Given the description of an element on the screen output the (x, y) to click on. 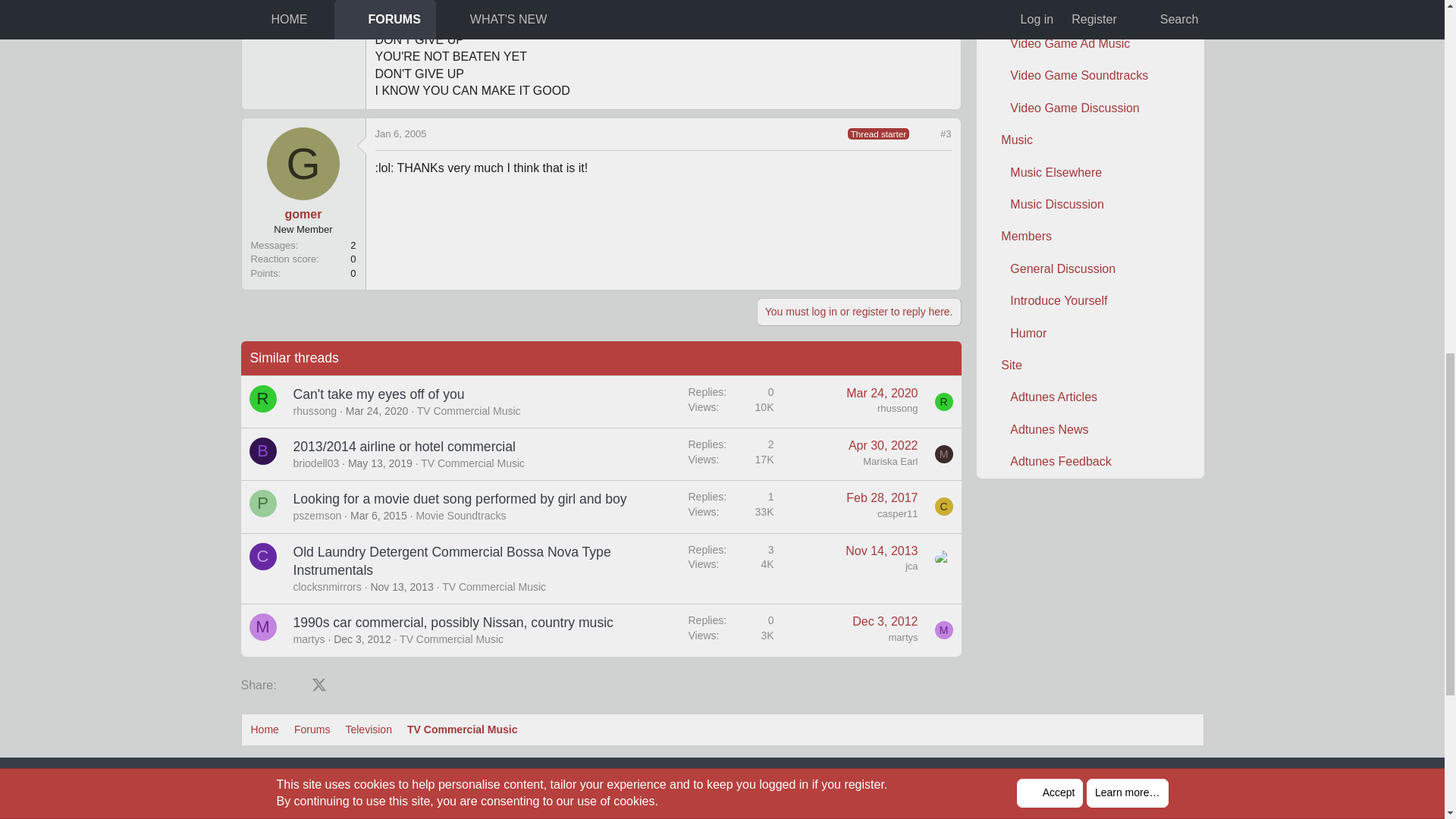
Feb 28, 2017 at 1:46 PM (881, 497)
First message reaction score: 0 (730, 454)
Mar 6, 2015 at 3:32 PM (378, 515)
Jan 6, 2005 at 7:19 PM (400, 133)
Apr 30, 2022 at 5:07 AM (883, 445)
Mar 24, 2020 at 6:35 PM (881, 392)
Nov 13, 2013 at 11:24 PM (400, 586)
May 13, 2019 at 2:59 AM (379, 463)
First message reaction score: 0 (730, 506)
First message reaction score: 0 (730, 401)
